Given the description of an element on the screen output the (x, y) to click on. 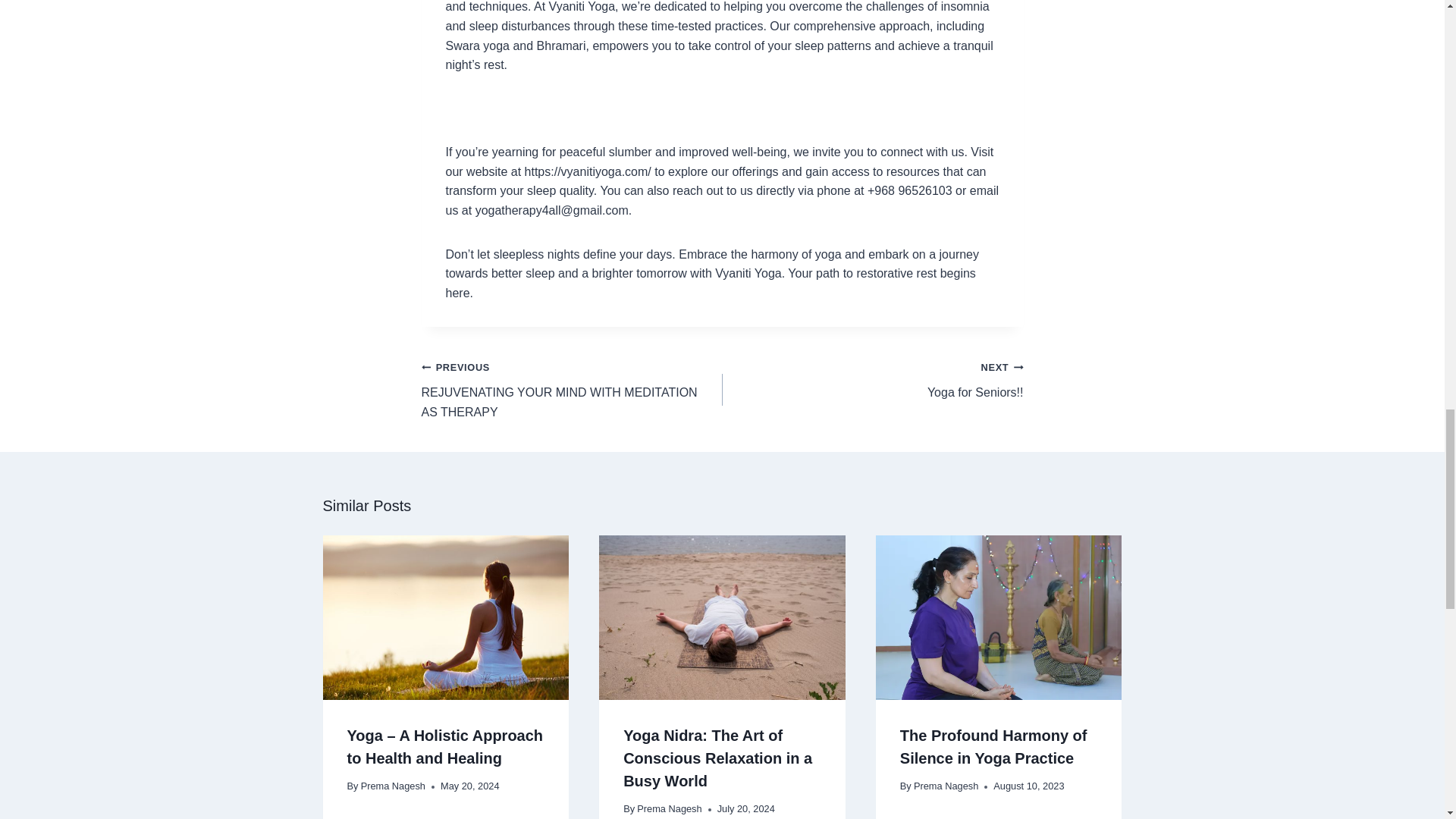
Prema Nagesh (393, 785)
